Given the description of an element on the screen output the (x, y) to click on. 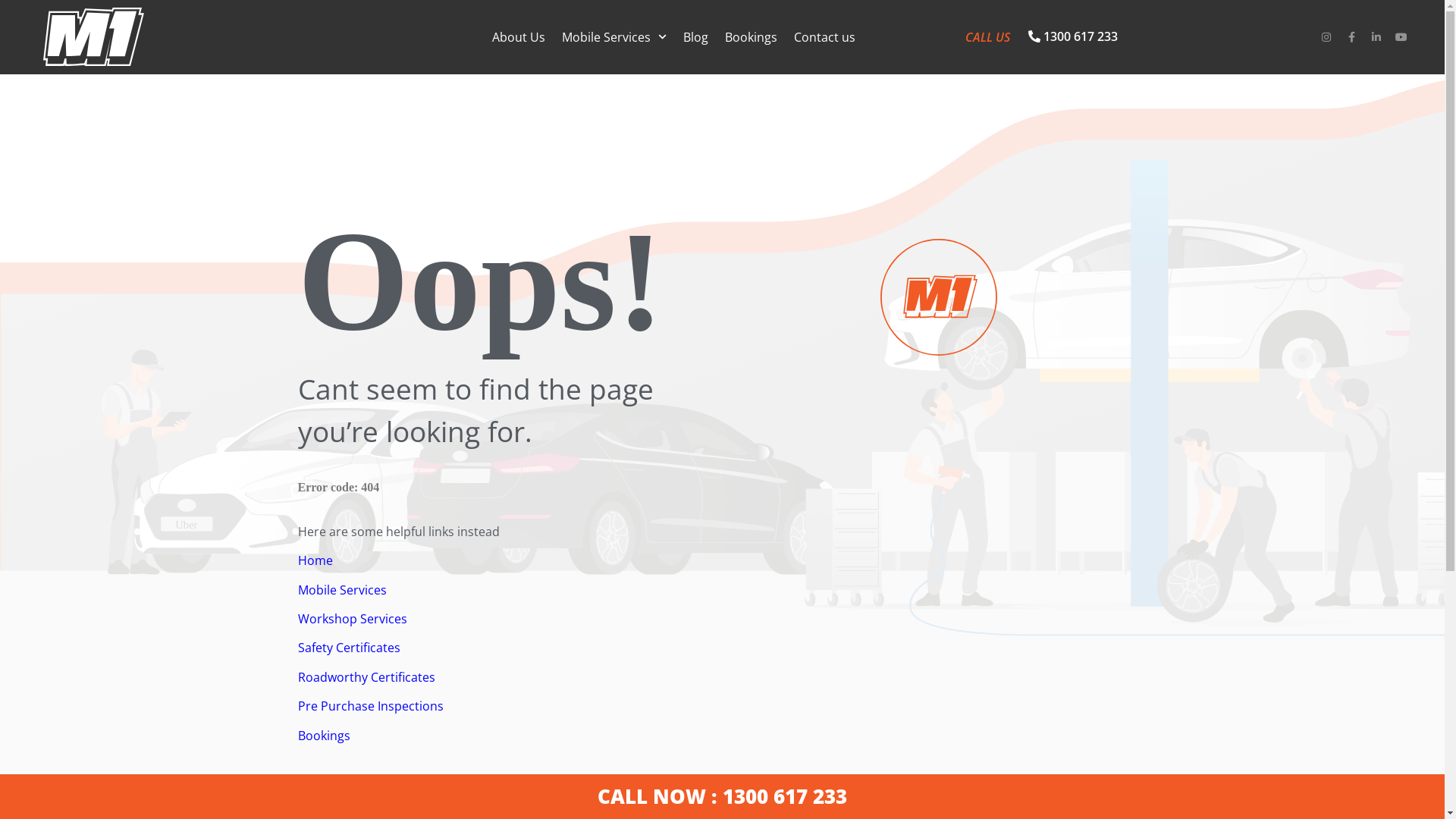
Roadworthy Certificates Element type: text (365, 676)
Home Element type: text (314, 560)
1300 617 233 Element type: text (1072, 37)
Bookings Element type: text (323, 735)
Pre Purchase Inspections Element type: text (369, 705)
Contact us Element type: text (824, 36)
Bookings Element type: text (750, 36)
Safety Certificates Element type: text (348, 647)
CALL NOW : 1300 617 233 Element type: text (722, 795)
Mobile Services Element type: text (613, 36)
Workshop Services  Element type: text (353, 618)
About Us Element type: text (518, 36)
Blog Element type: text (695, 36)
Mobile Services Element type: text (341, 589)
